Given the description of an element on the screen output the (x, y) to click on. 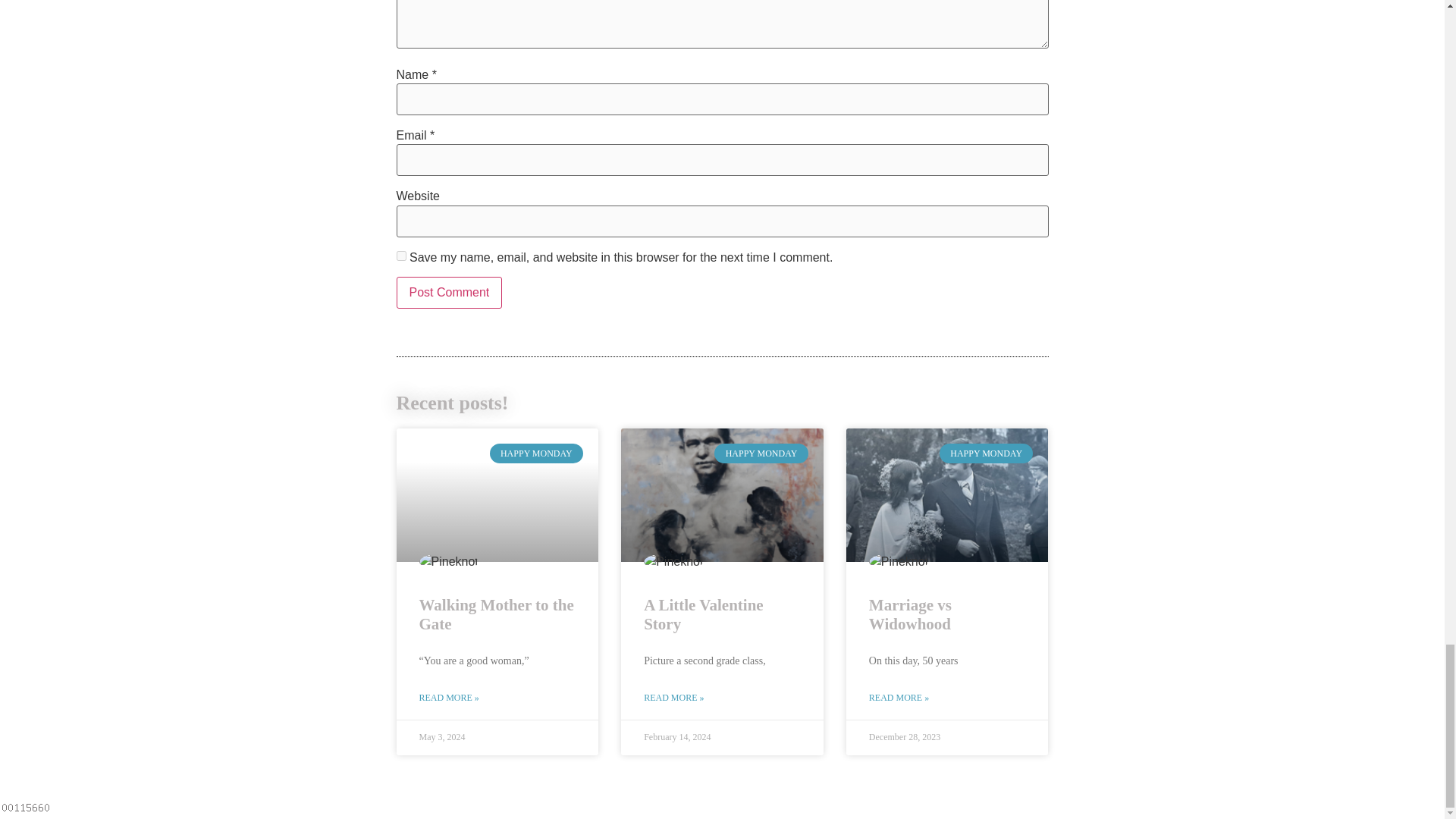
Marriage vs Widowhood (910, 614)
Walking Mother to the Gate (496, 614)
Post Comment (449, 292)
A Little Valentine Story (702, 614)
Post Comment (449, 292)
yes (401, 255)
